Given the description of an element on the screen output the (x, y) to click on. 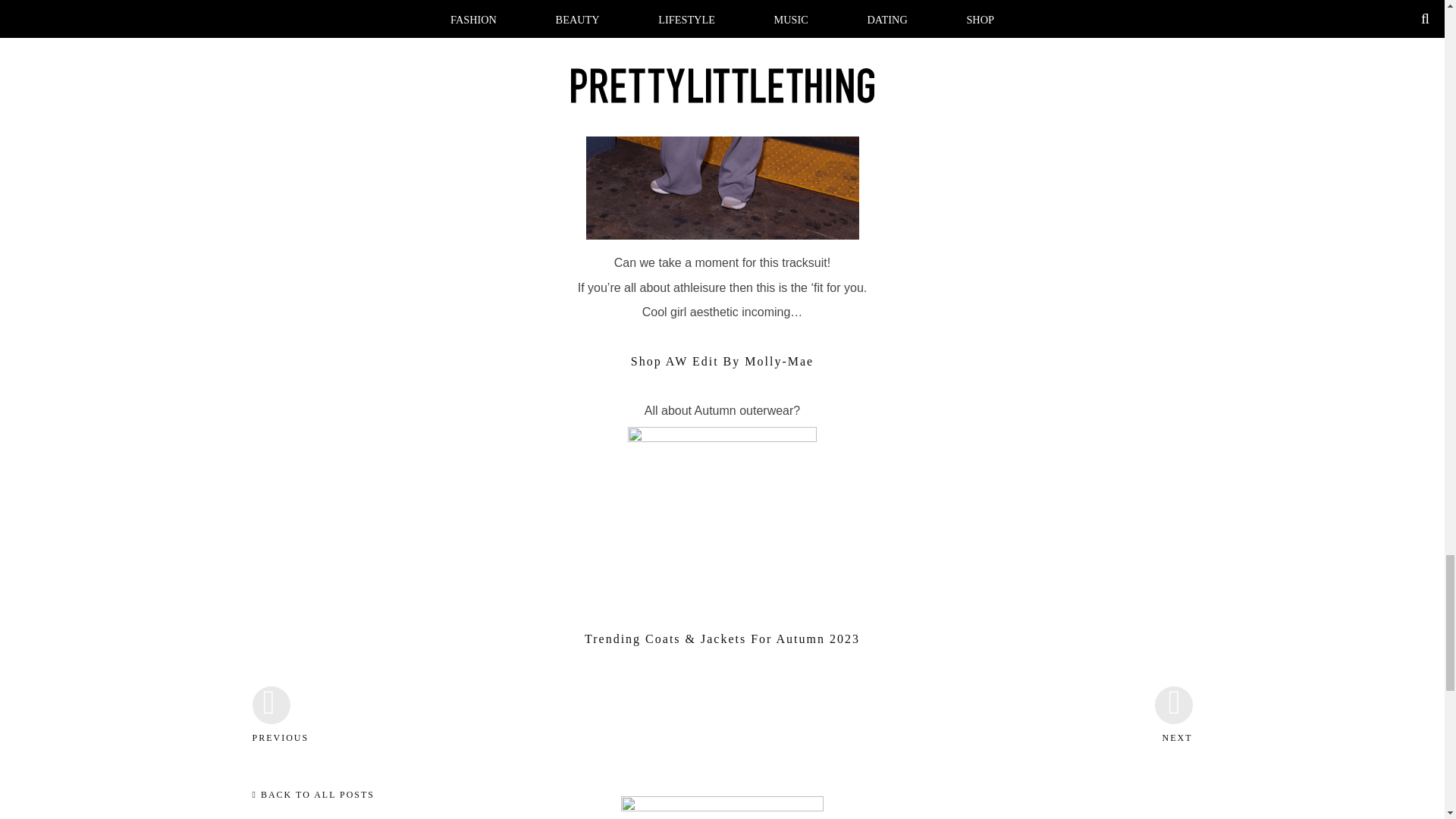
PREVIOUS (270, 750)
Shop AW Edit By Molly-Mae (721, 361)
BACK TO ALL POSTS (312, 794)
NEXT (1173, 750)
